Given the description of an element on the screen output the (x, y) to click on. 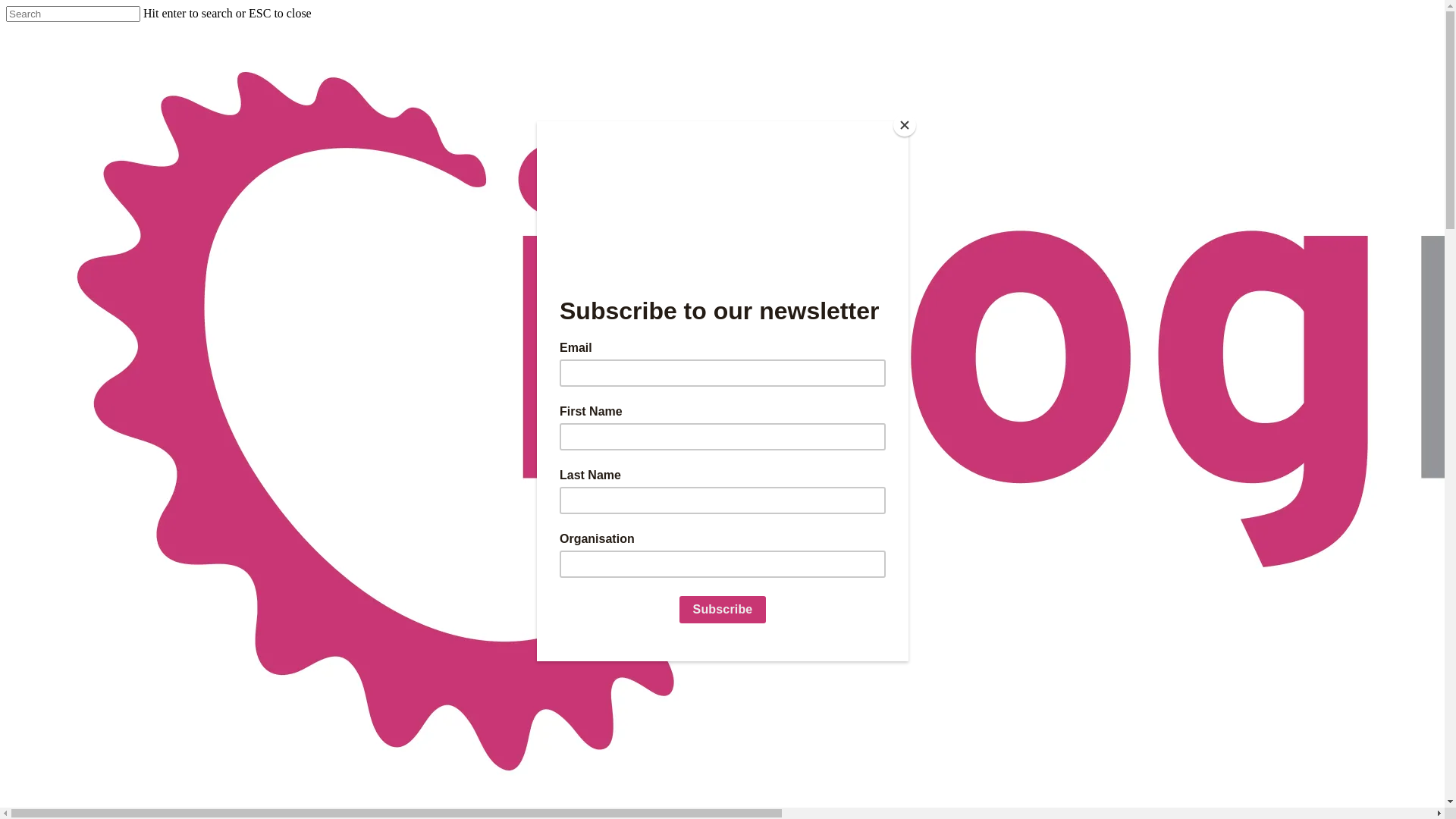
Skip to main content Element type: text (5, 5)
